Given the description of an element on the screen output the (x, y) to click on. 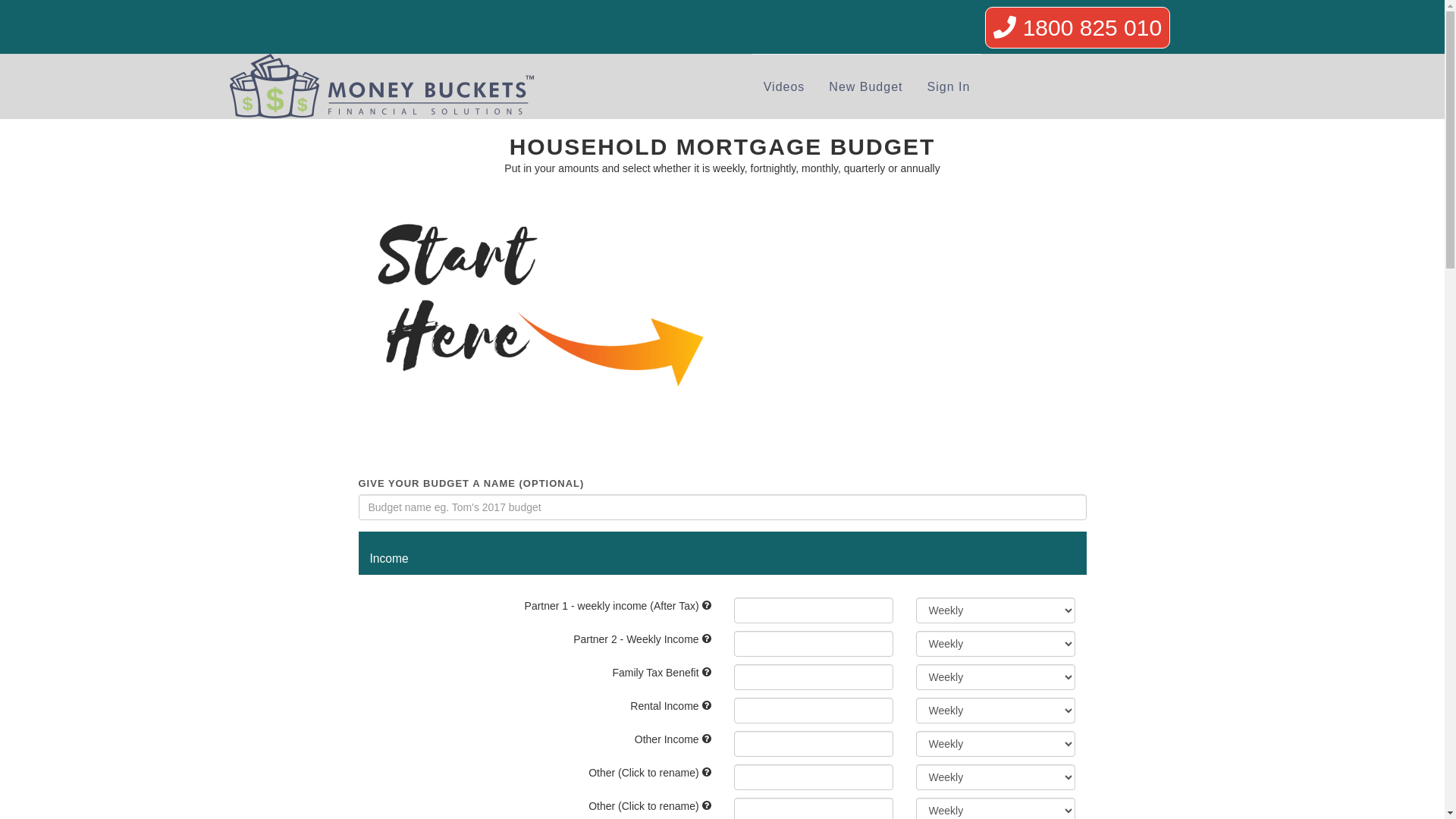
1800 825 010 Element type: text (1077, 27)
Sign In Element type: text (949, 86)
New Budget Element type: text (865, 86)
Other Income  Element type: text (540, 738)
Partner 2 - Weekly Income  Element type: text (540, 638)
Rental Income  Element type: text (540, 705)
Partner 1 - weekly income (After Tax)  Element type: text (540, 605)
Other (Click to rename)  Element type: text (540, 805)
Family Tax Benefit  Element type: text (540, 672)
Videos Element type: text (784, 86)
Other (Click to rename)  Element type: text (540, 772)
